Given the description of an element on the screen output the (x, y) to click on. 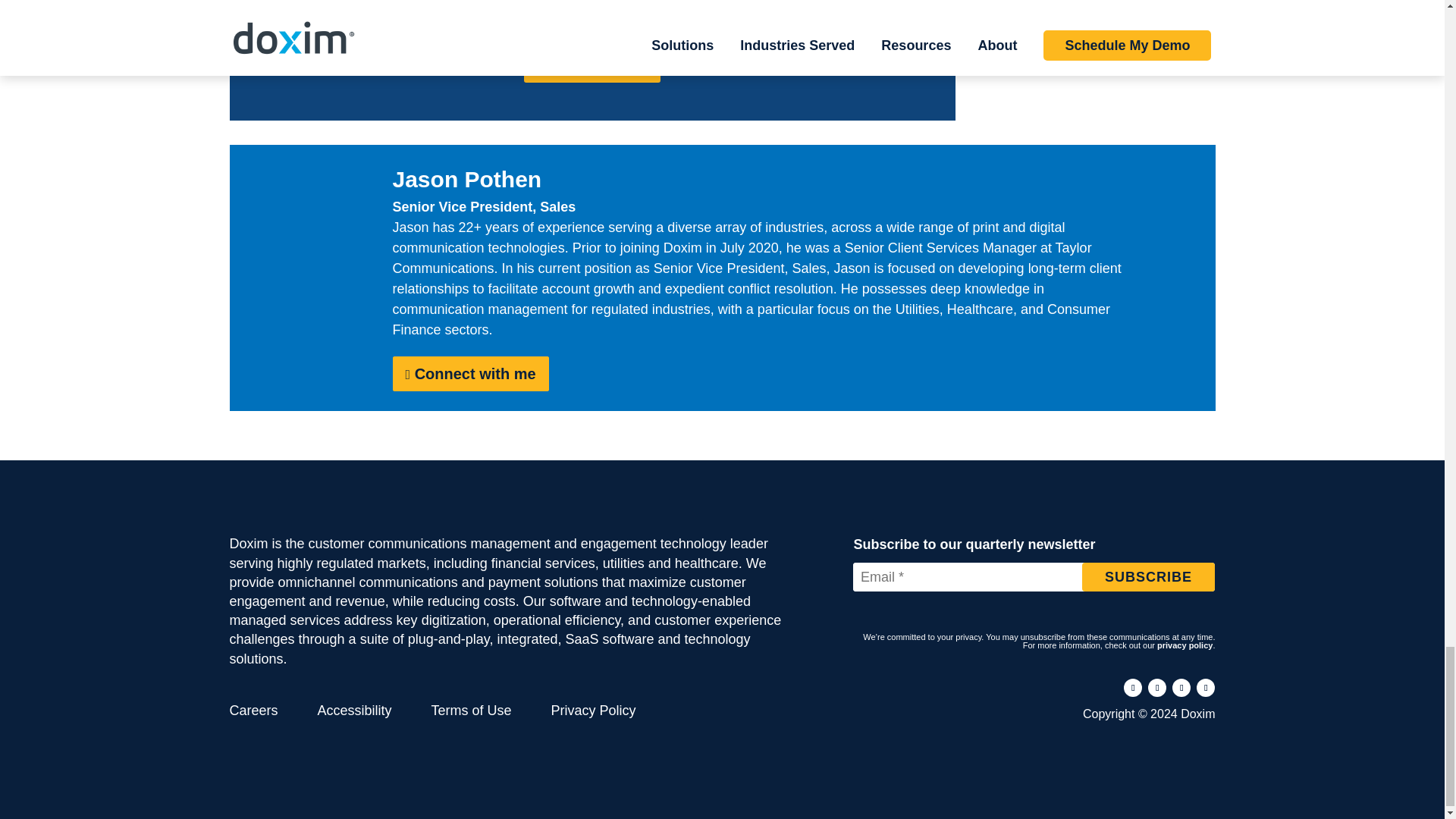
Follow on Facebook (1132, 687)
Follow on LinkedIn (1157, 687)
Follow on X (1181, 687)
Follow on Youtube (1205, 687)
